Given the description of an element on the screen output the (x, y) to click on. 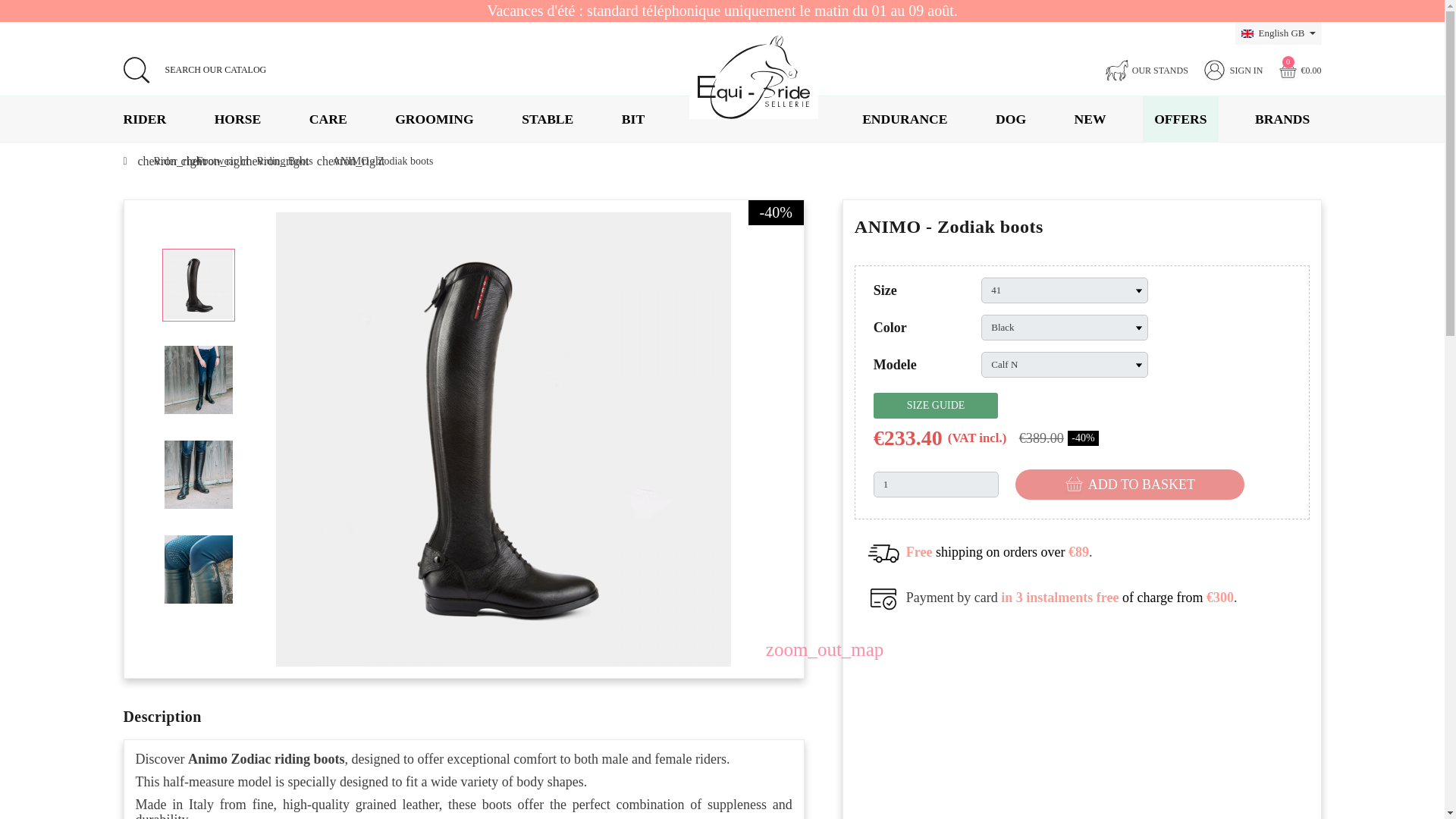
NEW (1090, 118)
STABLE (548, 118)
Rider (164, 160)
CARE (328, 118)
BRANDS (1281, 118)
ENDURANCE (904, 118)
SIGN IN (1233, 69)
GROOMING (434, 118)
Log in to your customer account (1233, 69)
  English GB (1278, 33)
Riding Boots (285, 160)
OUR STANDS (1146, 69)
1 (935, 484)
YouTube video player (1081, 726)
LOGO (753, 77)
